Given the description of an element on the screen output the (x, y) to click on. 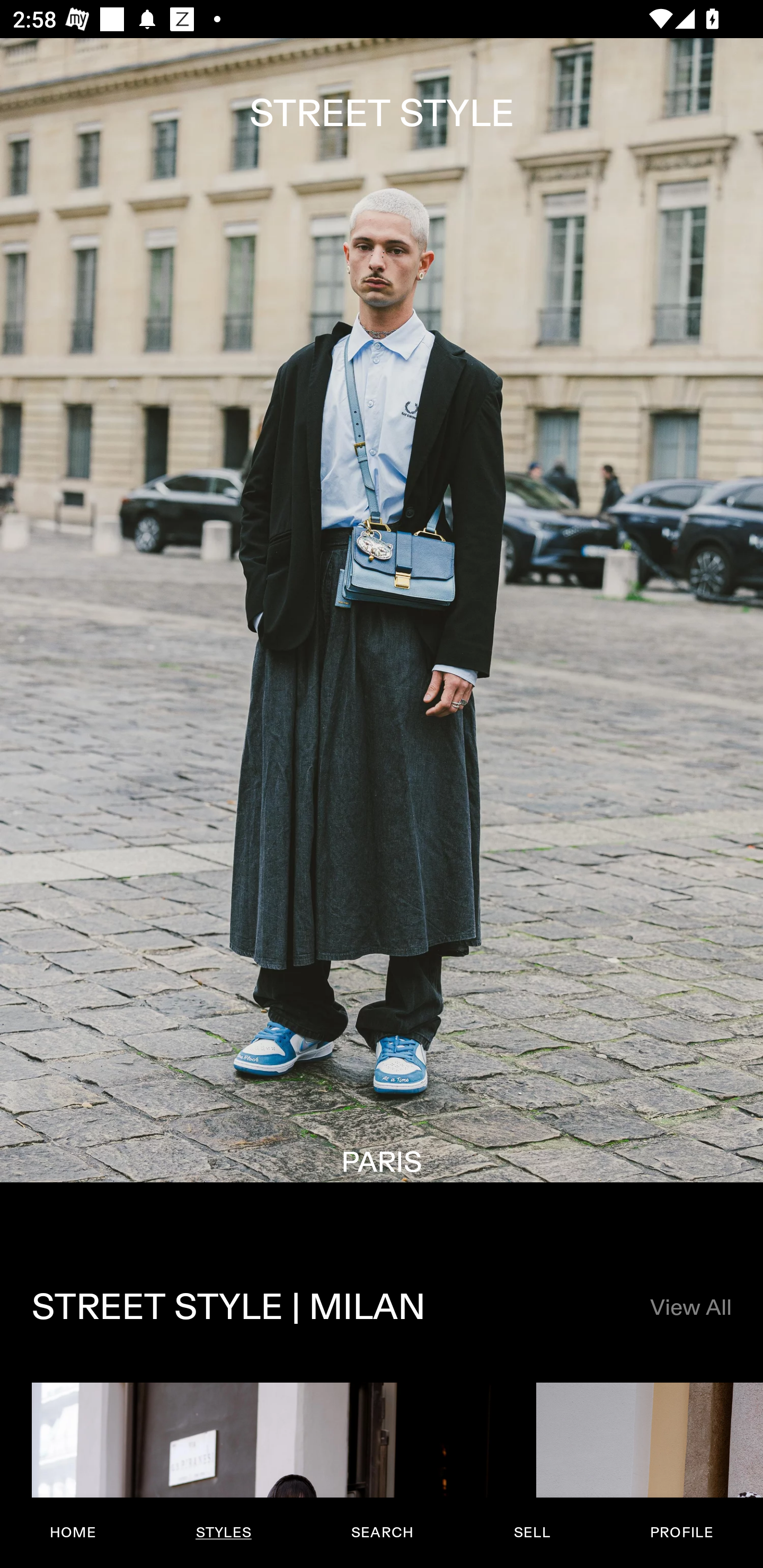
View All (690, 1308)
HOME (72, 1532)
STYLES (222, 1532)
SEARCH (381, 1532)
SELL (531, 1532)
PROFILE (681, 1532)
